Given the description of an element on the screen output the (x, y) to click on. 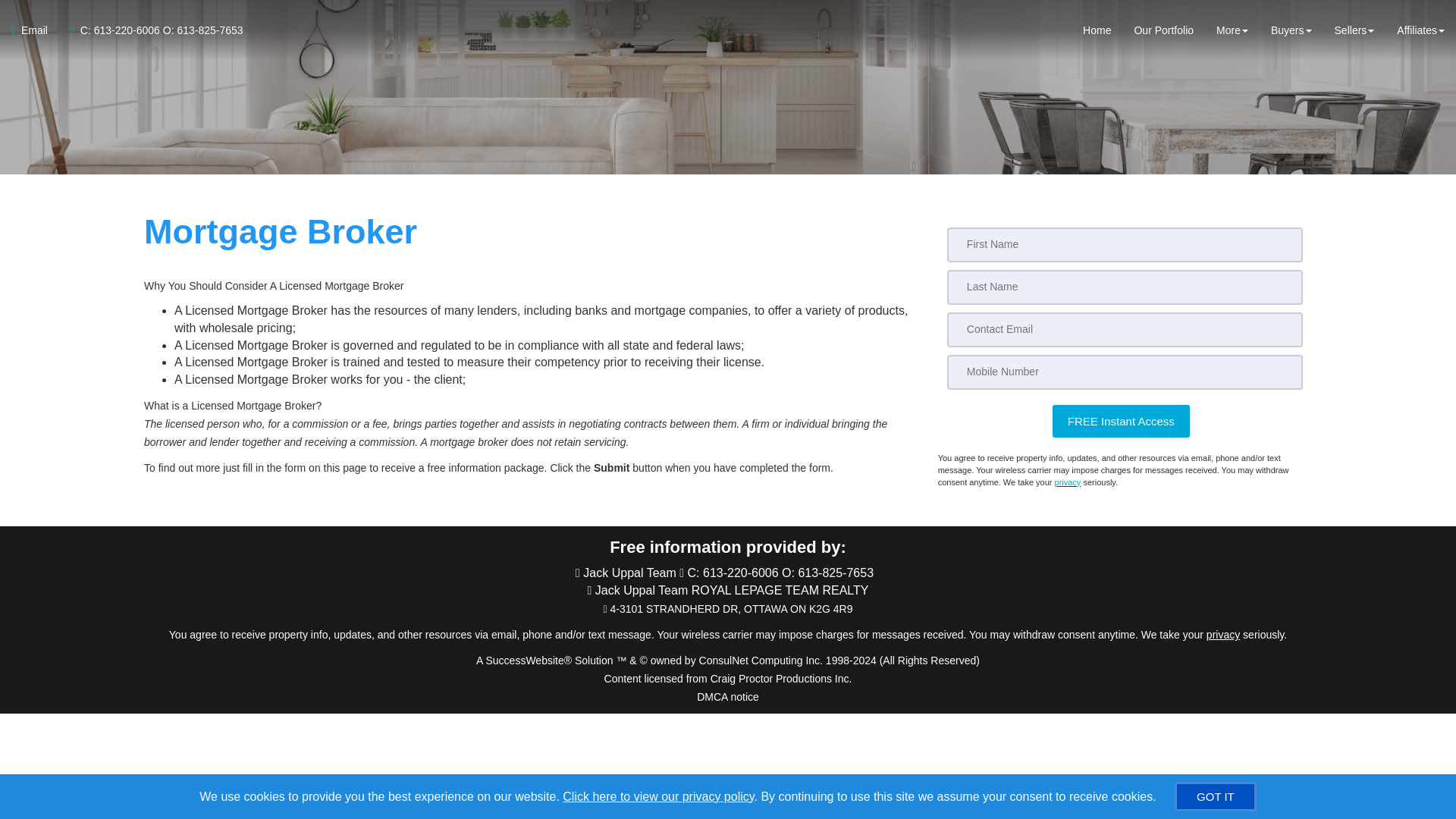
Our Portfolio (1163, 30)
Home (1102, 30)
  C: 613-220-6006 O: 613-825-7653 (151, 30)
Buyers (1291, 30)
More (1232, 30)
  Email (35, 30)
FREE Instant Access (1120, 420)
